Given the description of an element on the screen output the (x, y) to click on. 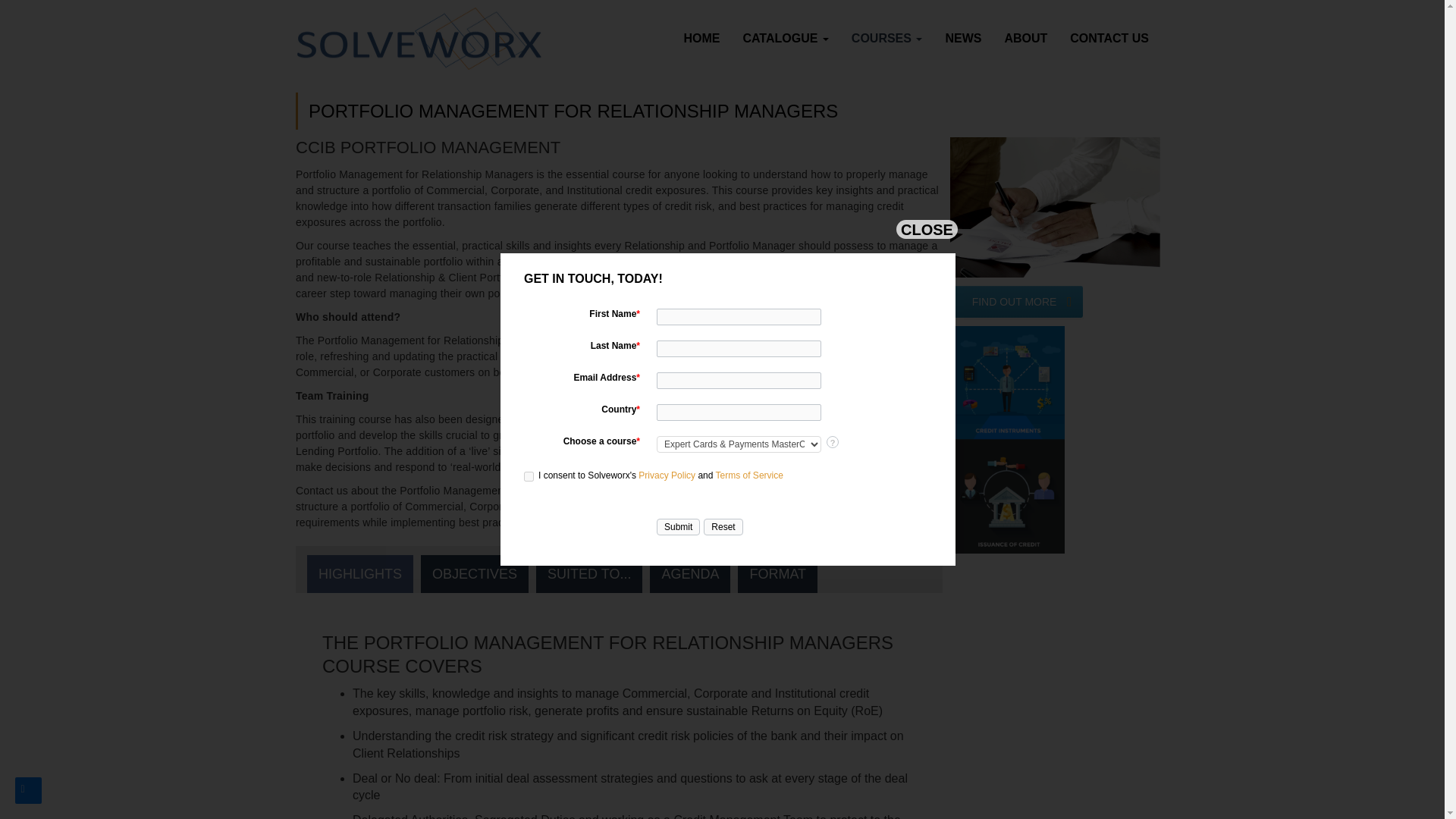
NEWS (962, 38)
Submit (678, 526)
ABOUT (1025, 38)
CATALOGUE (785, 38)
HOME (700, 38)
Reset (722, 526)
Reset (722, 526)
on (529, 476)
Submit (678, 526)
COURSES (887, 38)
Select a course from the dropdown list (832, 441)
CONTACT US (1109, 38)
Portfolio Management for Relationship Managers (1055, 207)
